Given the description of an element on the screen output the (x, y) to click on. 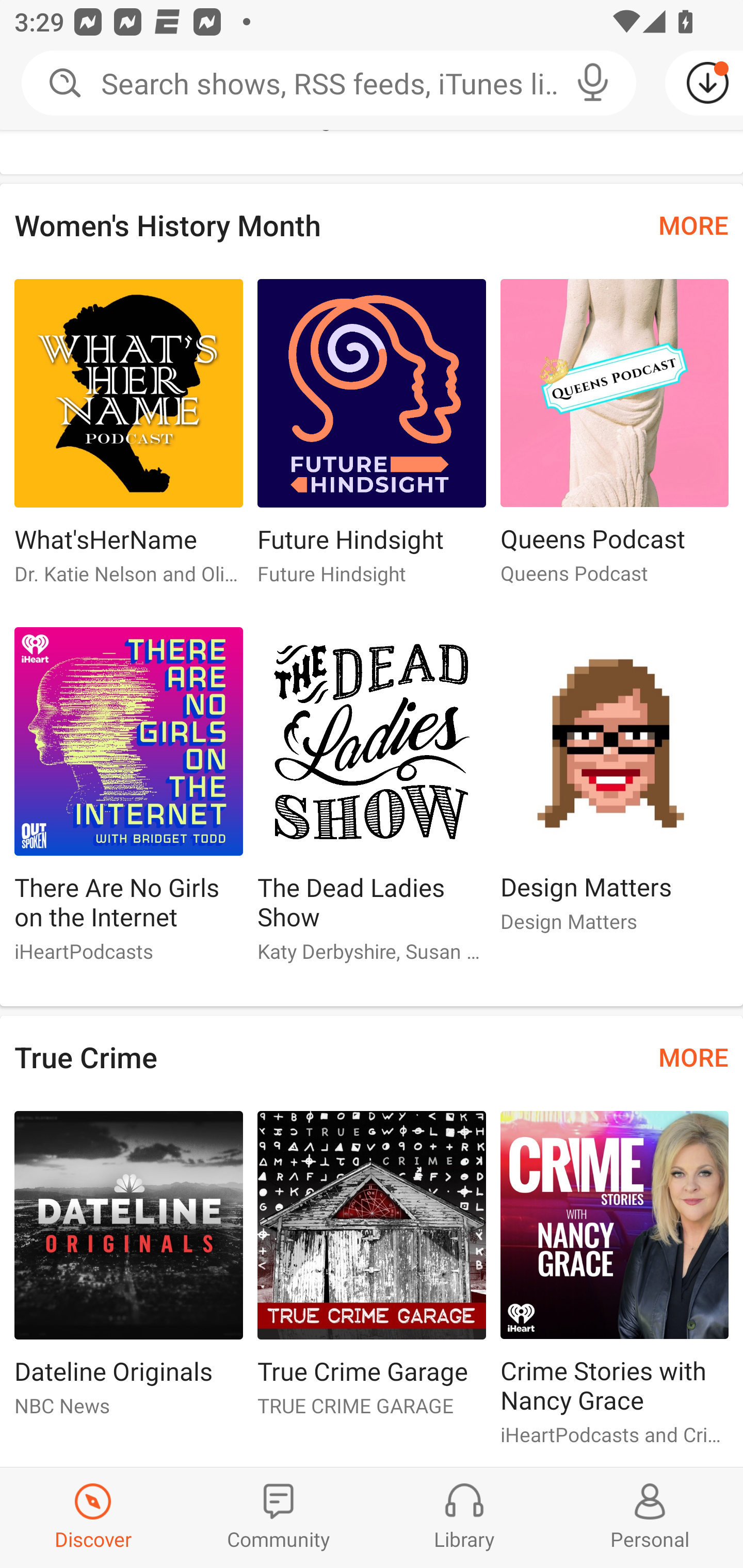
MORE (693, 223)
Future Hindsight Future Hindsight Future Hindsight (371, 440)
Queens Podcast Queens Podcast Queens Podcast (614, 439)
Design Matters Design Matters Design Matters (614, 787)
MORE (693, 1056)
Dateline Originals Dateline Originals NBC News (128, 1272)
Discover (92, 1517)
Community (278, 1517)
Library (464, 1517)
Profiles and Settings Personal (650, 1517)
